Given the description of an element on the screen output the (x, y) to click on. 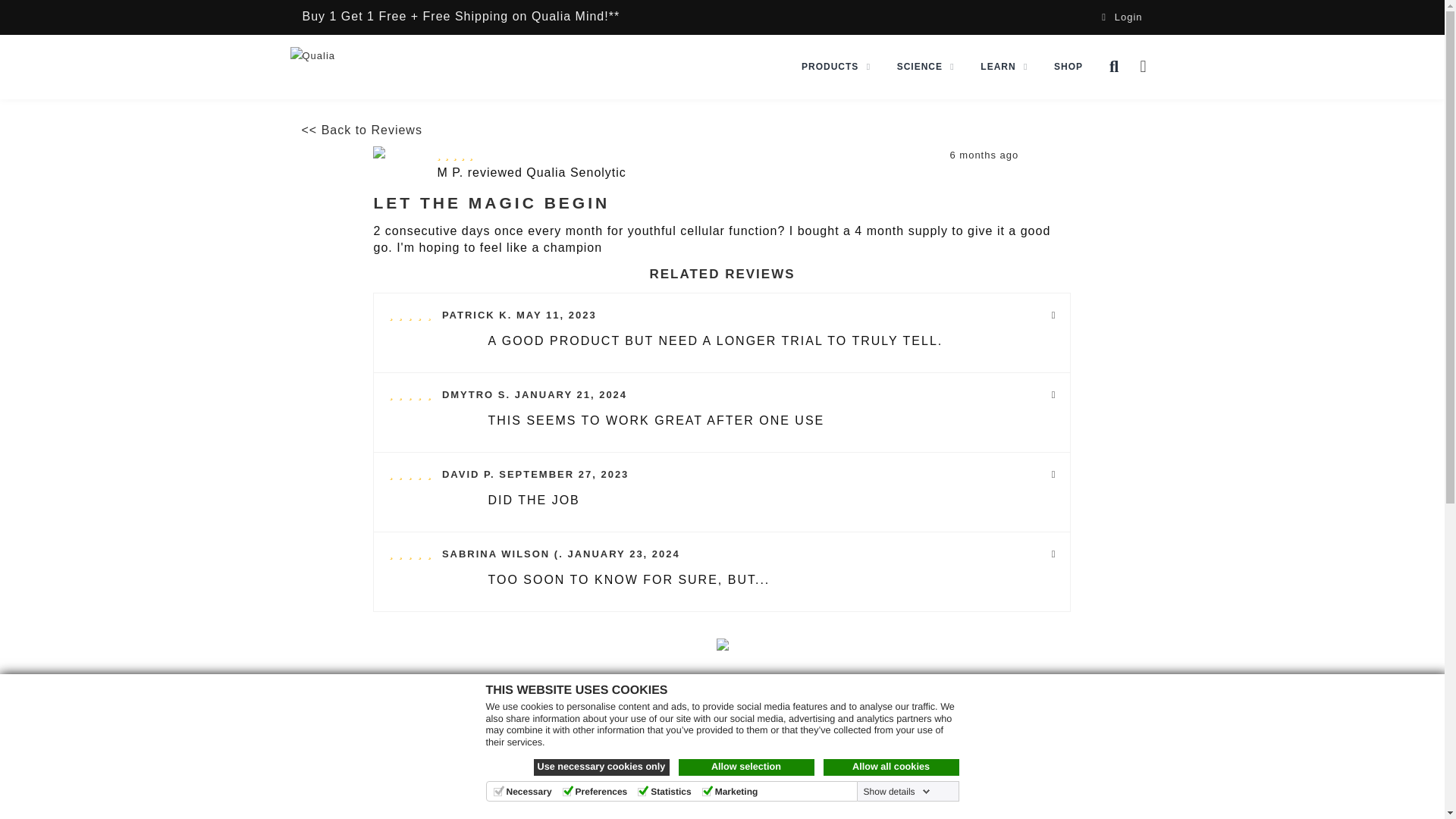
Use necessary cookies only (601, 767)
Allow all cookies (891, 767)
Allow selection (745, 767)
Show details (896, 791)
